Given the description of an element on the screen output the (x, y) to click on. 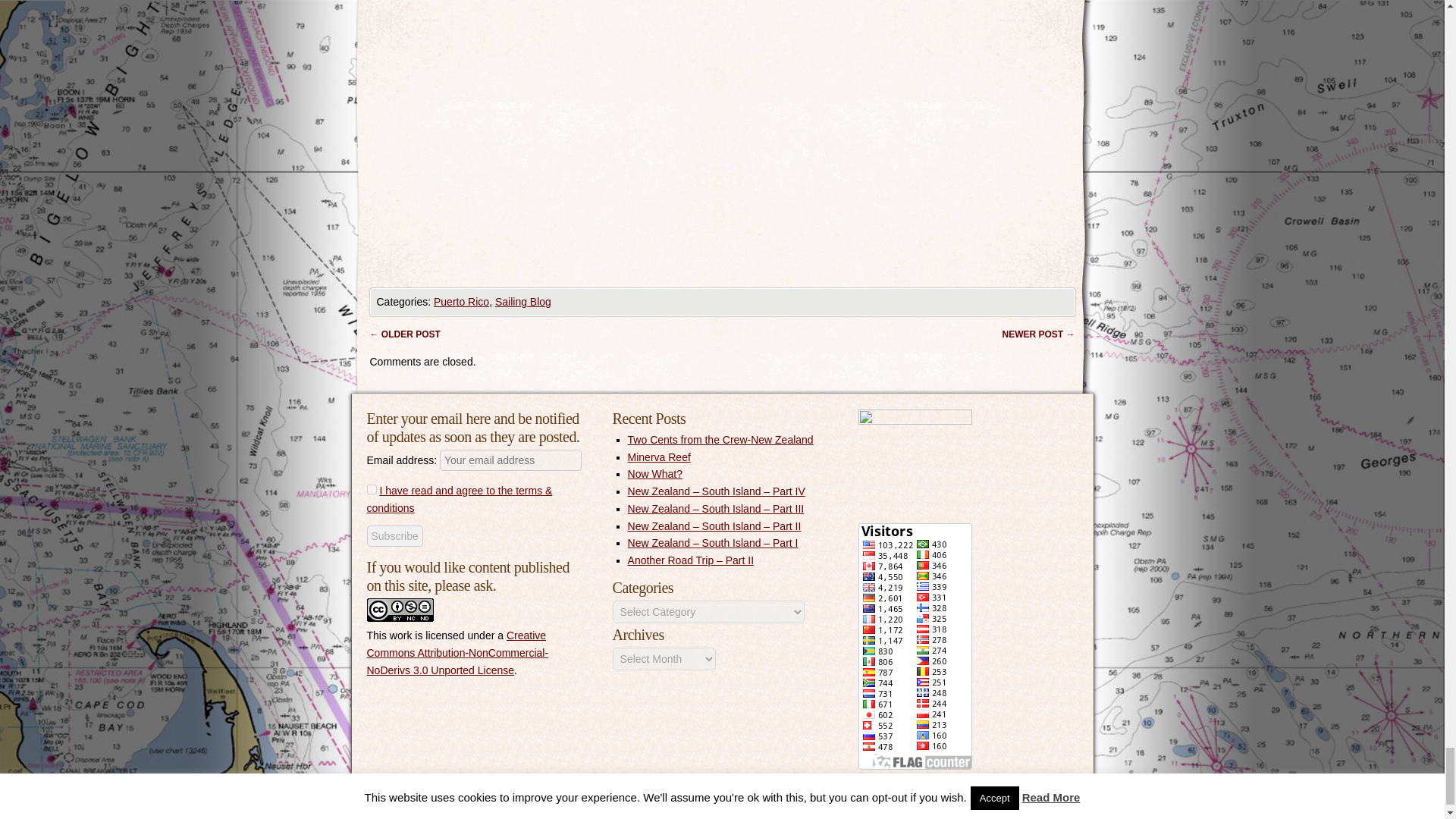
Subscribe (394, 536)
1 (371, 489)
